Given the description of an element on the screen output the (x, y) to click on. 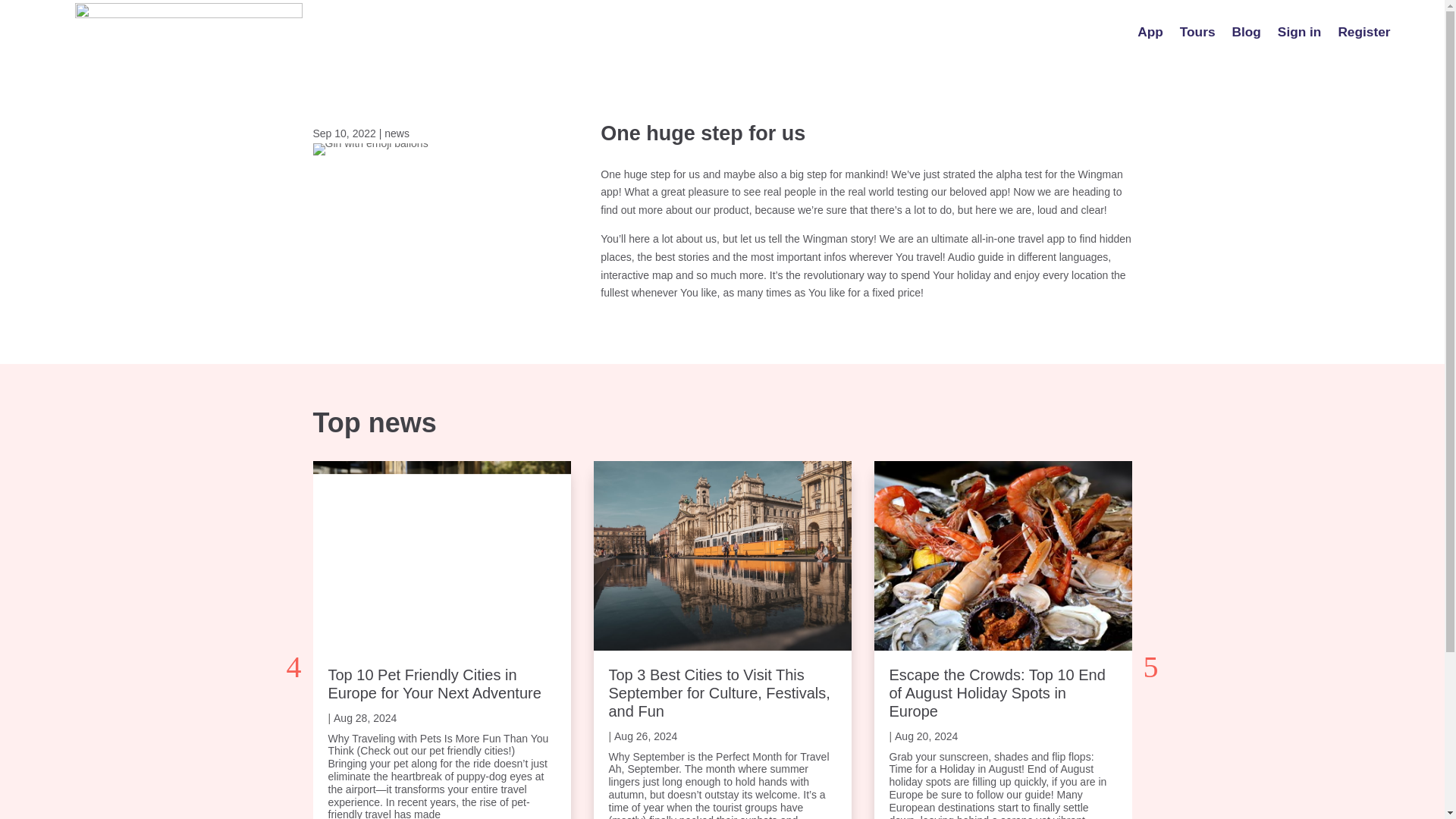
Blog (1245, 34)
news (396, 133)
WingmanLogoTr (188, 34)
Top 10 Pet Friendly Cities in Europe for Your Next Adventure (433, 683)
